Given the description of an element on the screen output the (x, y) to click on. 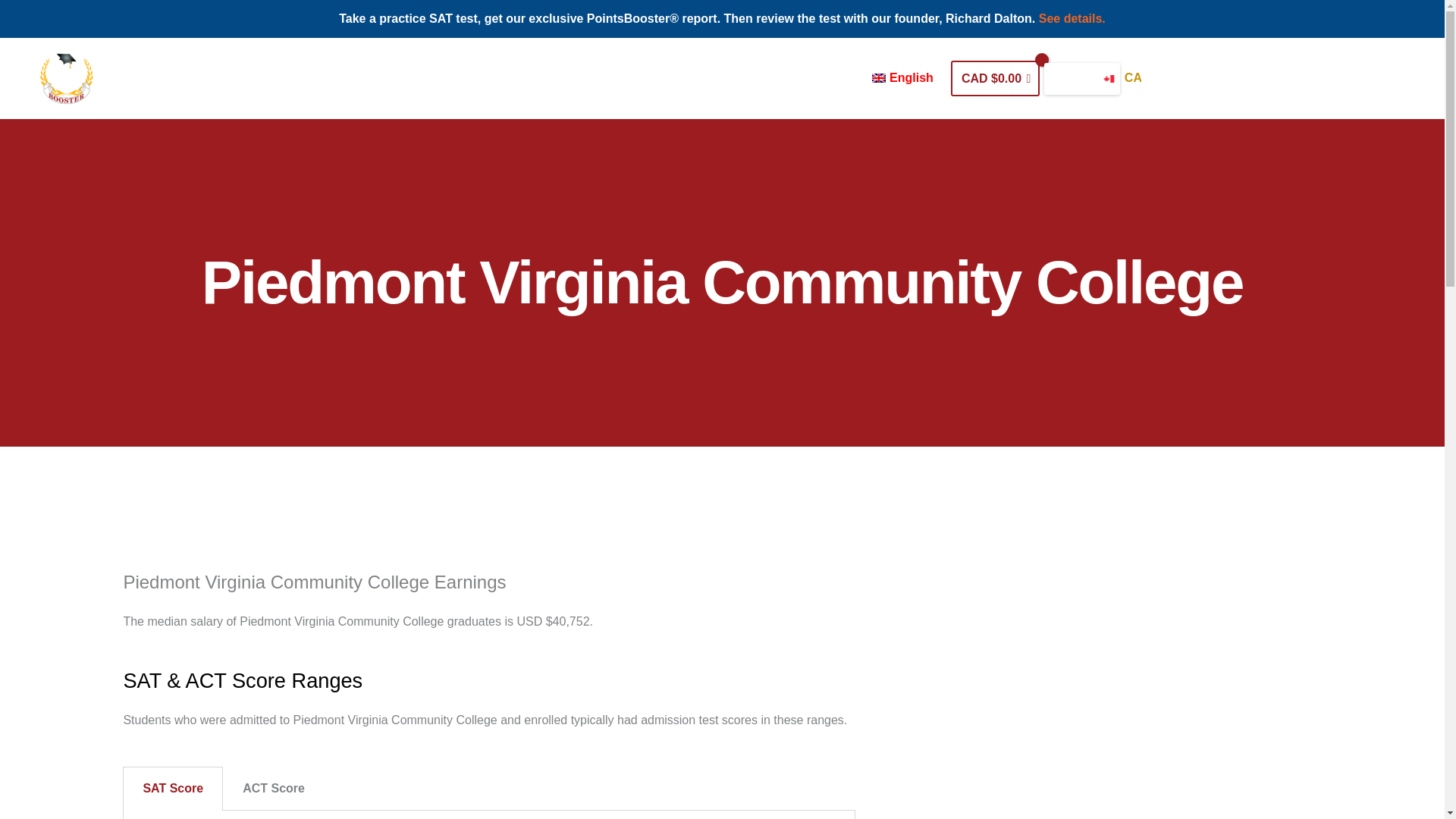
Universities (723, 78)
About (582, 78)
Why Us (645, 78)
Contact (836, 78)
1-on-1 Tutoring (500, 78)
English (907, 78)
See details. (1072, 18)
English (907, 78)
